Given the description of an element on the screen output the (x, y) to click on. 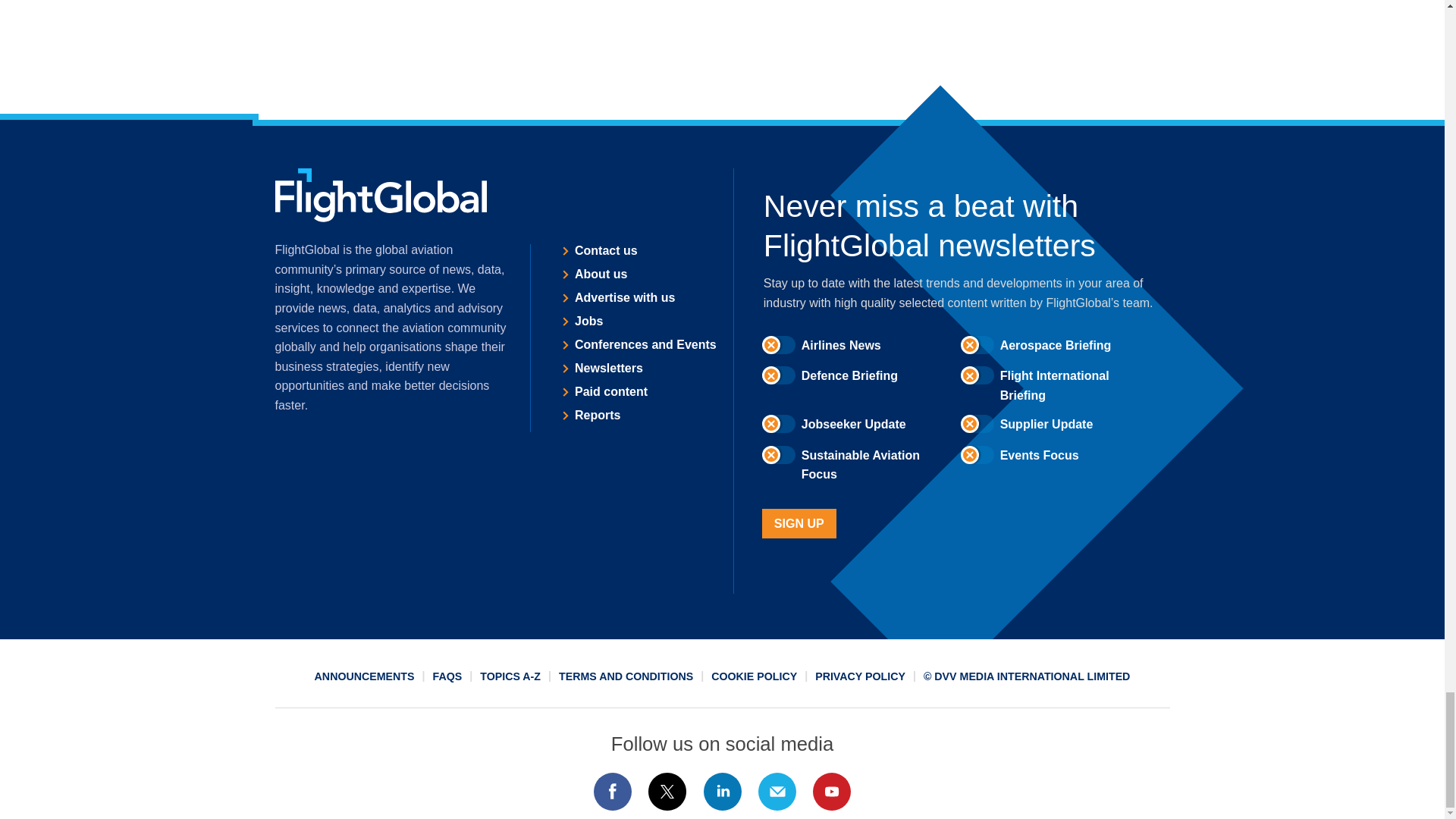
Email us (776, 791)
Connect with us on Linked In (721, 791)
Connect with us on Facebook (611, 791)
Connect with us on Youtube (831, 791)
